Given the description of an element on the screen output the (x, y) to click on. 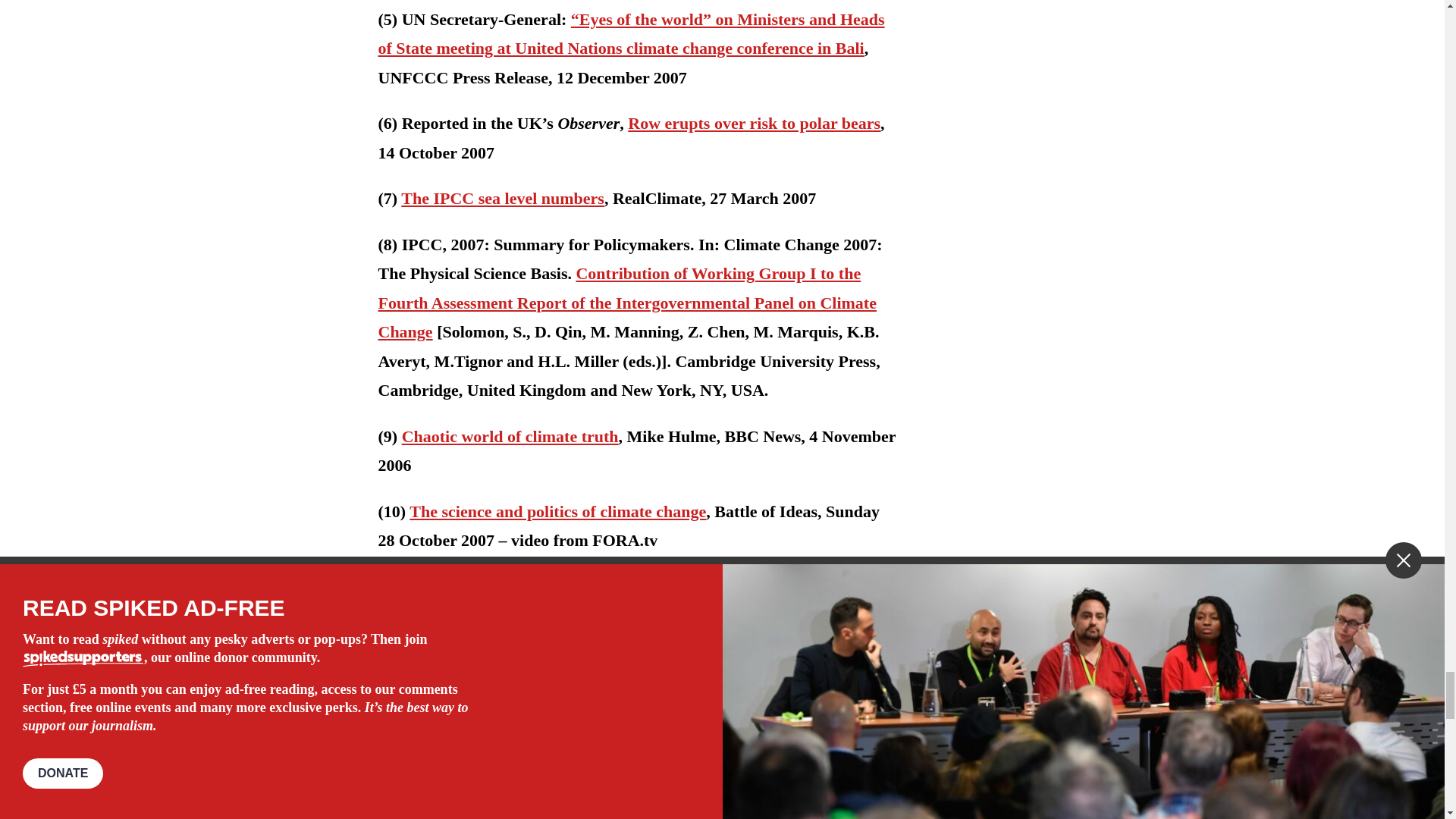
Share on Twitter (452, 685)
Share on Facebook (429, 685)
Share on Email (499, 685)
Share on Whatsapp (475, 685)
